Given the description of an element on the screen output the (x, y) to click on. 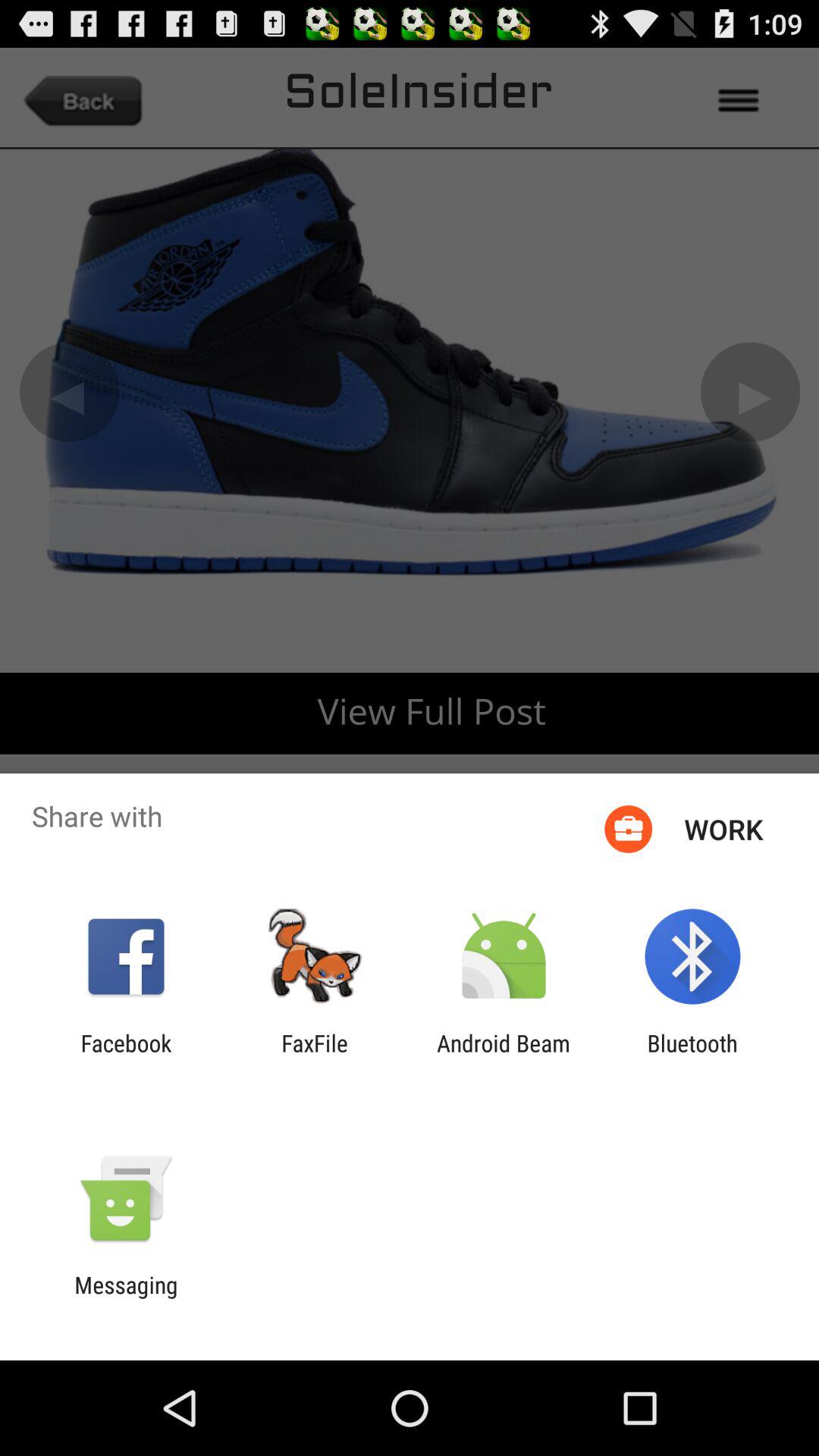
turn on item next to android beam item (314, 1056)
